Given the description of an element on the screen output the (x, y) to click on. 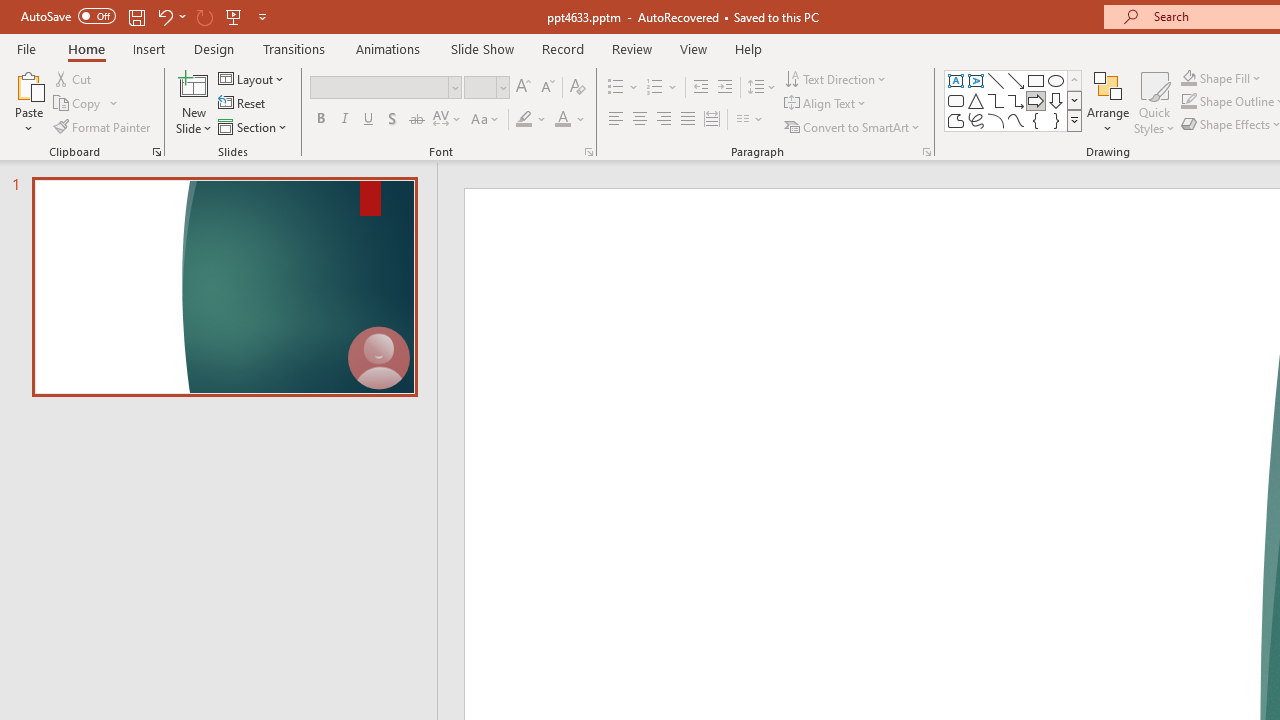
Shape Outline Dark Red, Accent 1 (1188, 101)
